Given the description of an element on the screen output the (x, y) to click on. 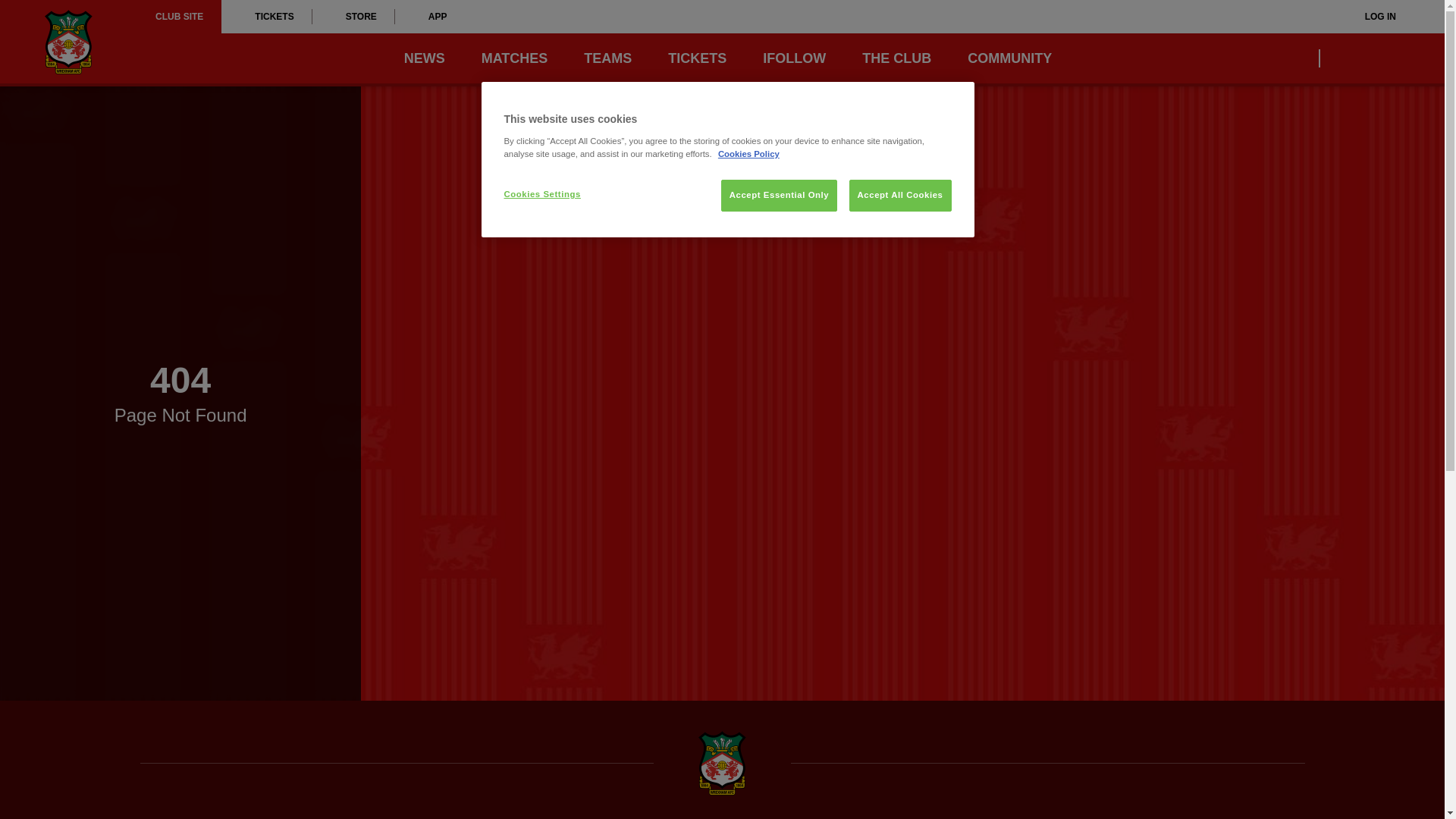
Accept Essential Only (778, 195)
STORE (353, 16)
TEAMS (607, 58)
THE CLUB (896, 58)
COMMUNITY (1009, 58)
APP (429, 16)
MATCHES (514, 58)
Help widget launcher (75, 781)
CLUB SITE (178, 16)
Cookies Policy (747, 153)
